Given the description of an element on the screen output the (x, y) to click on. 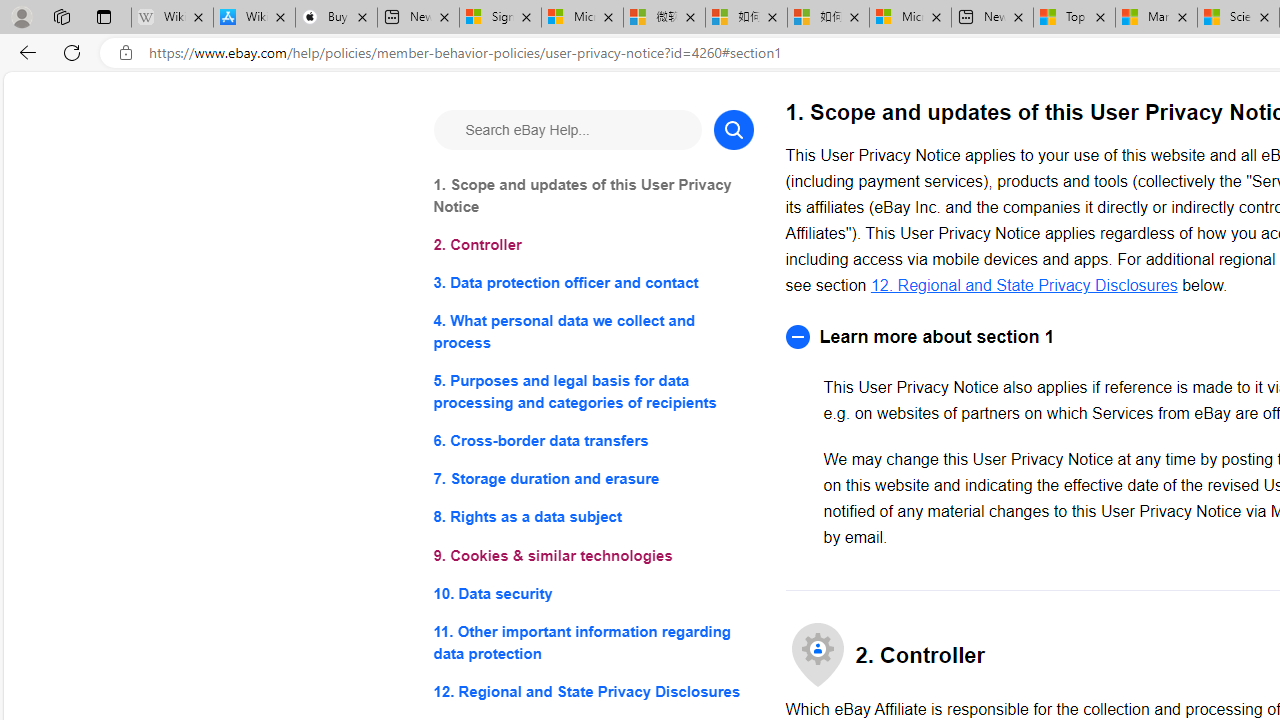
2. Controller (592, 245)
8. Rights as a data subject (592, 517)
9. Cookies & similar technologies (592, 555)
11. Other important information regarding data protection (592, 642)
4. What personal data we collect and process (592, 332)
1. Scope and updates of this User Privacy Notice (592, 196)
6. Cross-border data transfers (592, 440)
12. Regional and State Privacy Disclosures (1023, 284)
